Given the description of an element on the screen output the (x, y) to click on. 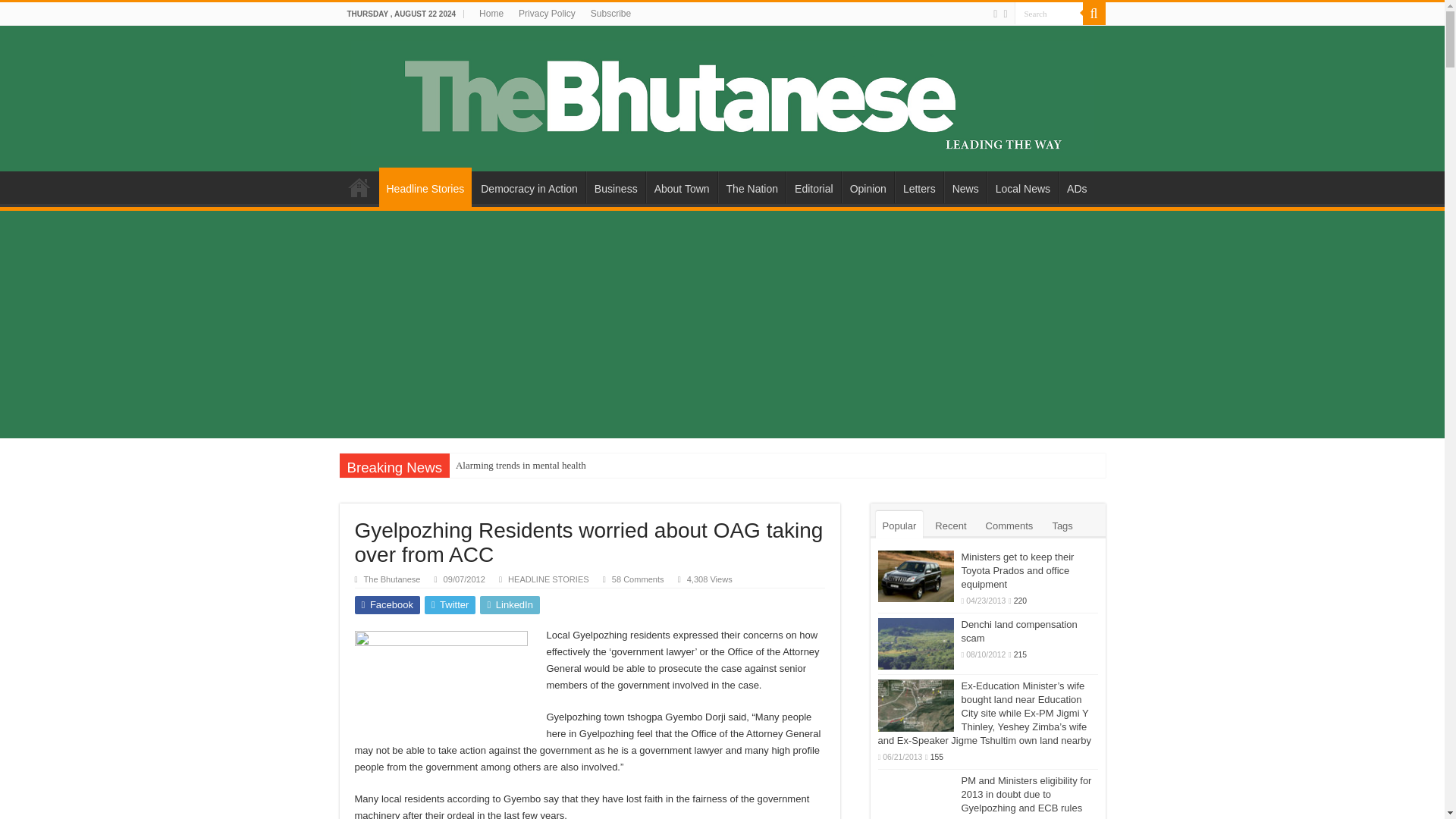
Opinion (867, 187)
Local News (1022, 187)
The Bhutanese (721, 94)
HOME (358, 187)
Search (1094, 13)
Subscribe (611, 13)
Headline Stories (424, 187)
ADs (1076, 187)
Alarming trends in mental health (520, 465)
